Given the description of an element on the screen output the (x, y) to click on. 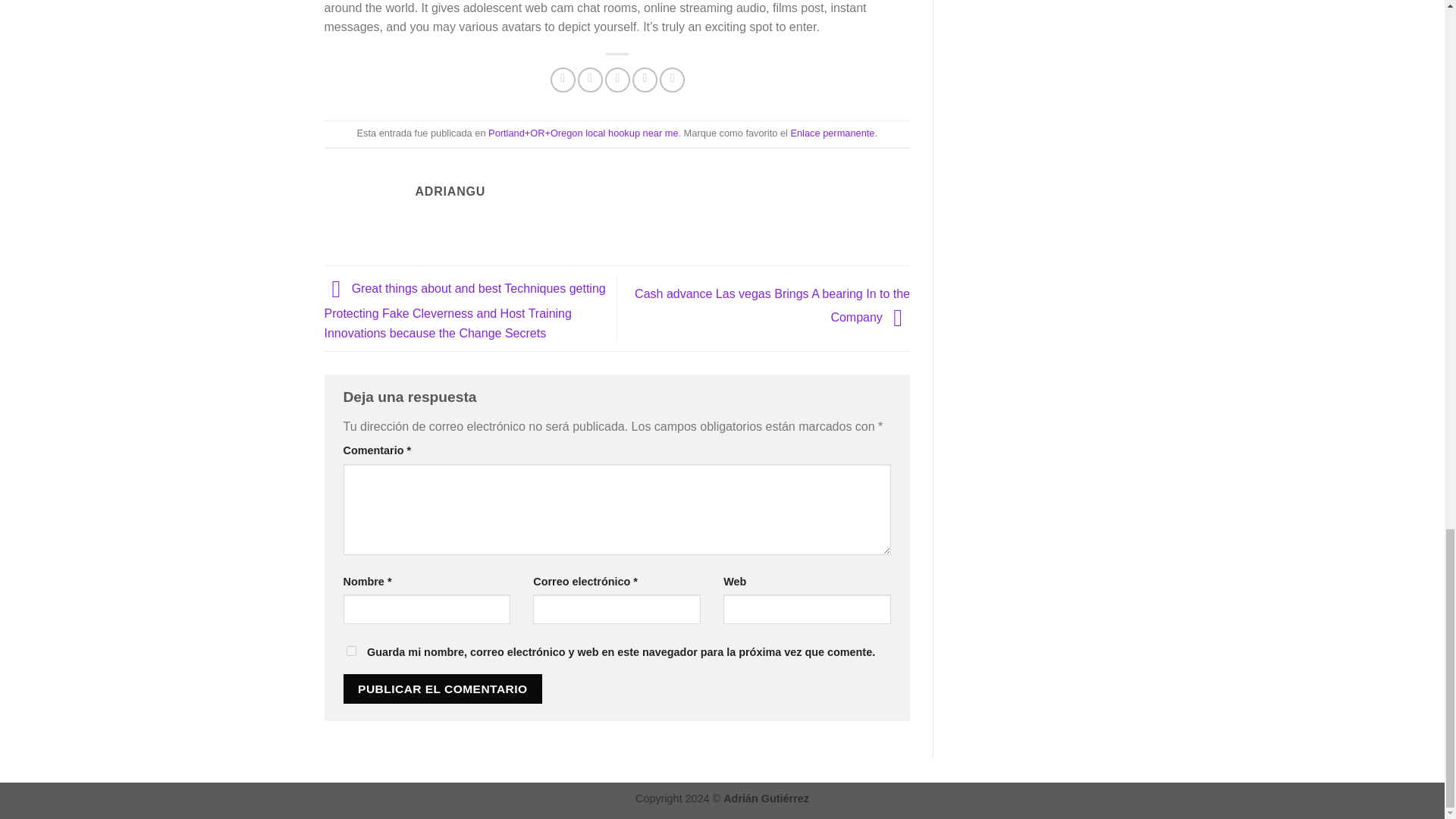
Cash advance Las vegas Brings A bearing In to the Company (772, 305)
Publicar el comentario (441, 688)
Compartir en Twitter (590, 79)
Publicar el comentario (441, 688)
Enlace permanente (832, 132)
yes (350, 651)
Compartir en Facebook (562, 79)
Pinear en Pinterest (644, 79)
Compartir en LinkedIn (671, 79)
